Given the description of an element on the screen output the (x, y) to click on. 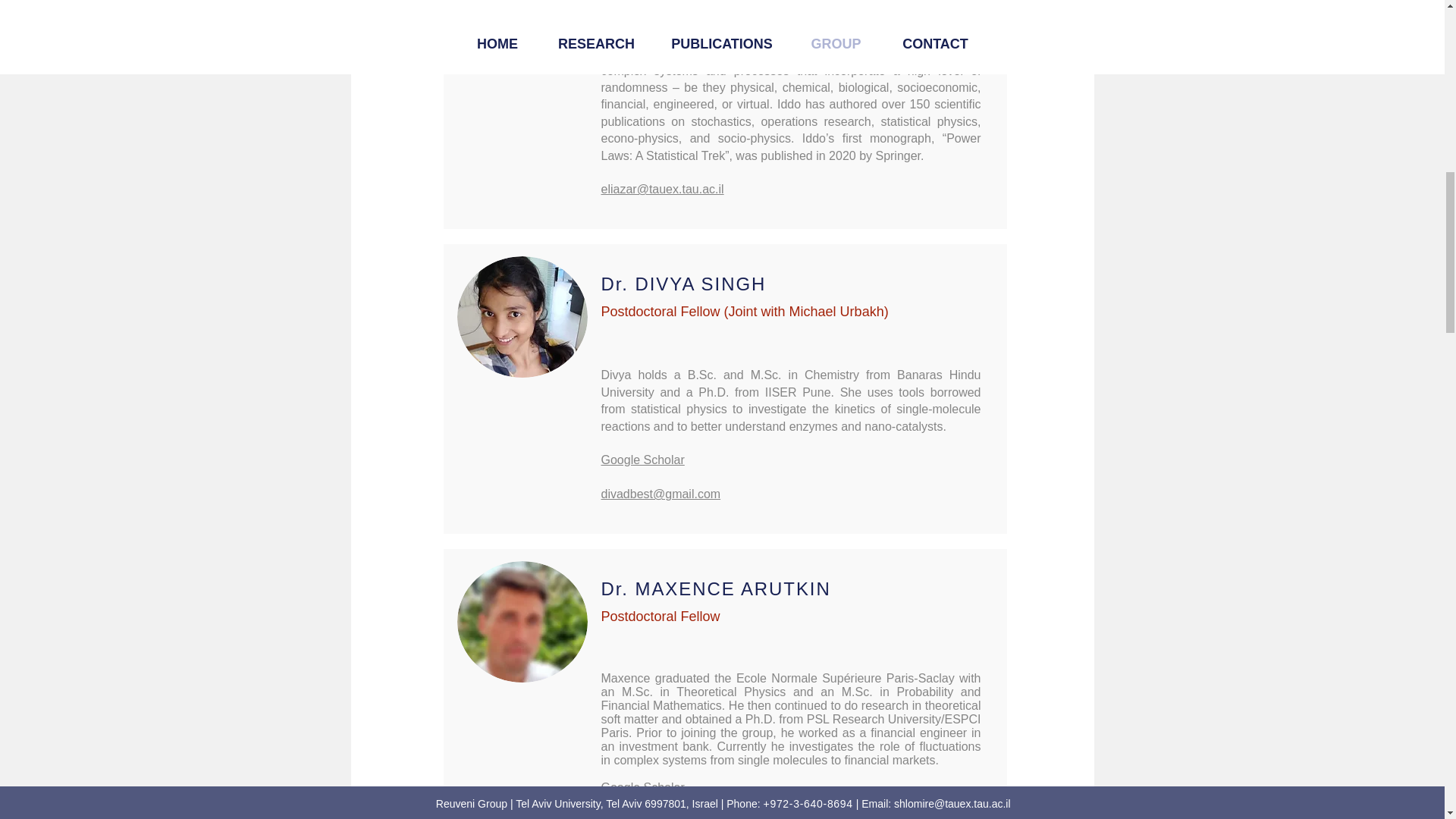
Google Scholar (641, 787)
Google Scholar (641, 459)
